Given the description of an element on the screen output the (x, y) to click on. 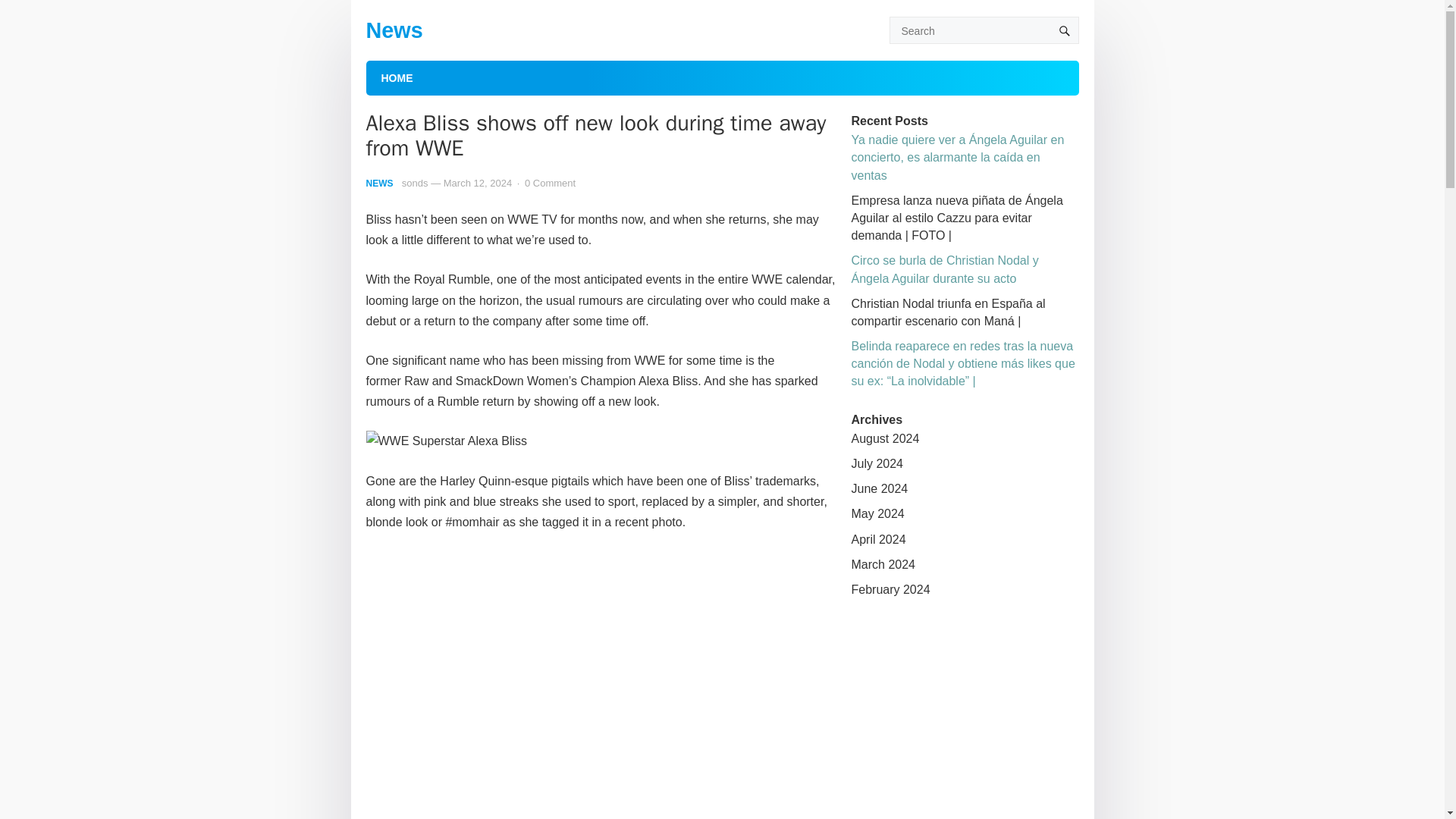
July 2024 (876, 463)
June 2024 (878, 488)
X Post (600, 683)
April 2024 (877, 539)
Posts by sonds (414, 183)
News (393, 30)
HOME (396, 77)
May 2024 (877, 513)
NEWS (379, 183)
0 Comment (549, 183)
